Given the description of an element on the screen output the (x, y) to click on. 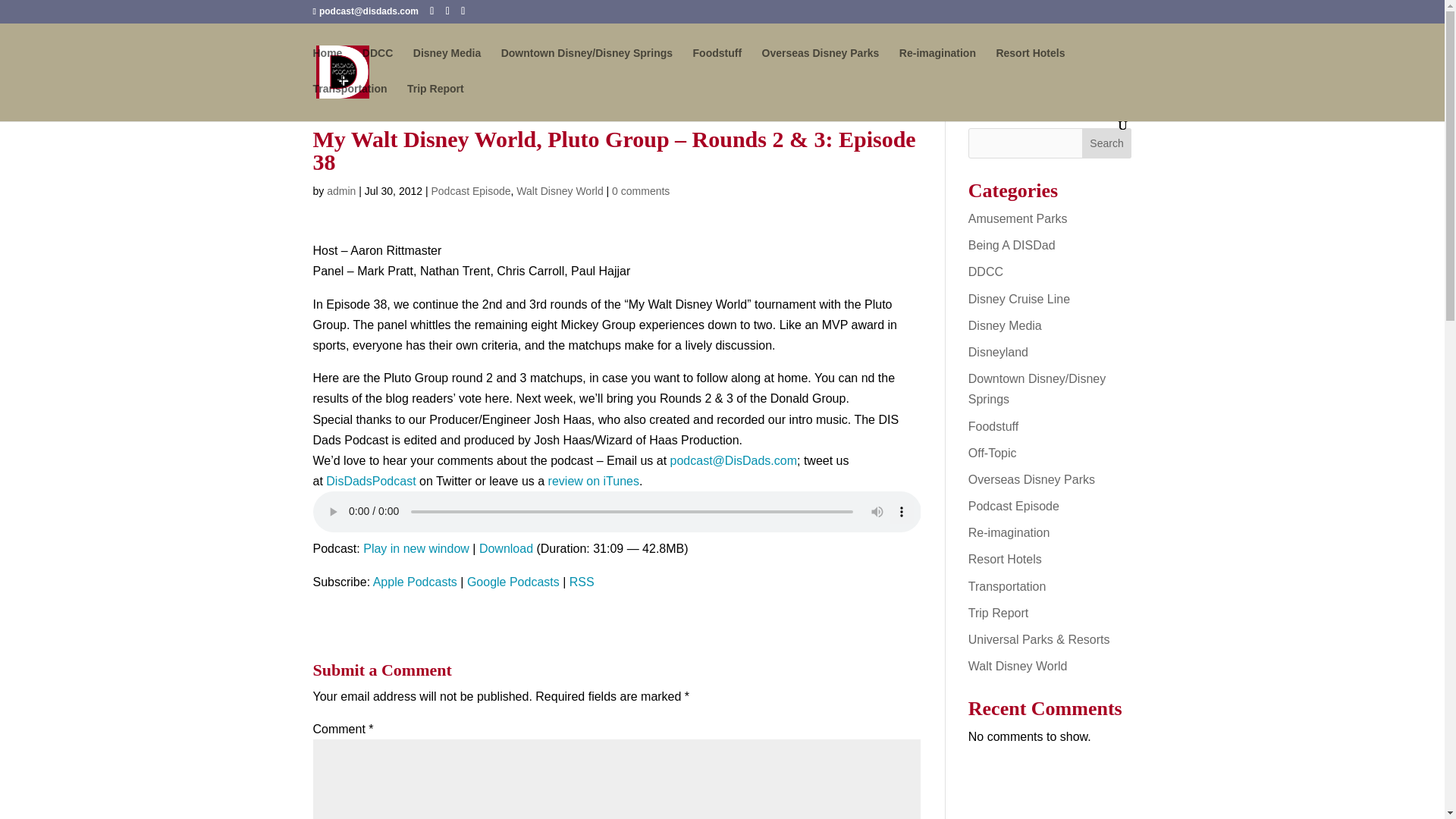
admin (340, 191)
Subscribe on Google Podcasts (513, 581)
Re-imagination (937, 65)
0 comments (640, 191)
Foodstuff (717, 65)
Resort Hotels (1029, 65)
Play in new window (415, 548)
Download (505, 548)
Subscribe via RSS (581, 581)
Disney Media (446, 65)
Posts by admin (340, 191)
Disney Media (1005, 325)
Disney Cruise Line (1019, 298)
Download (505, 548)
Search (1106, 142)
